Given the description of an element on the screen output the (x, y) to click on. 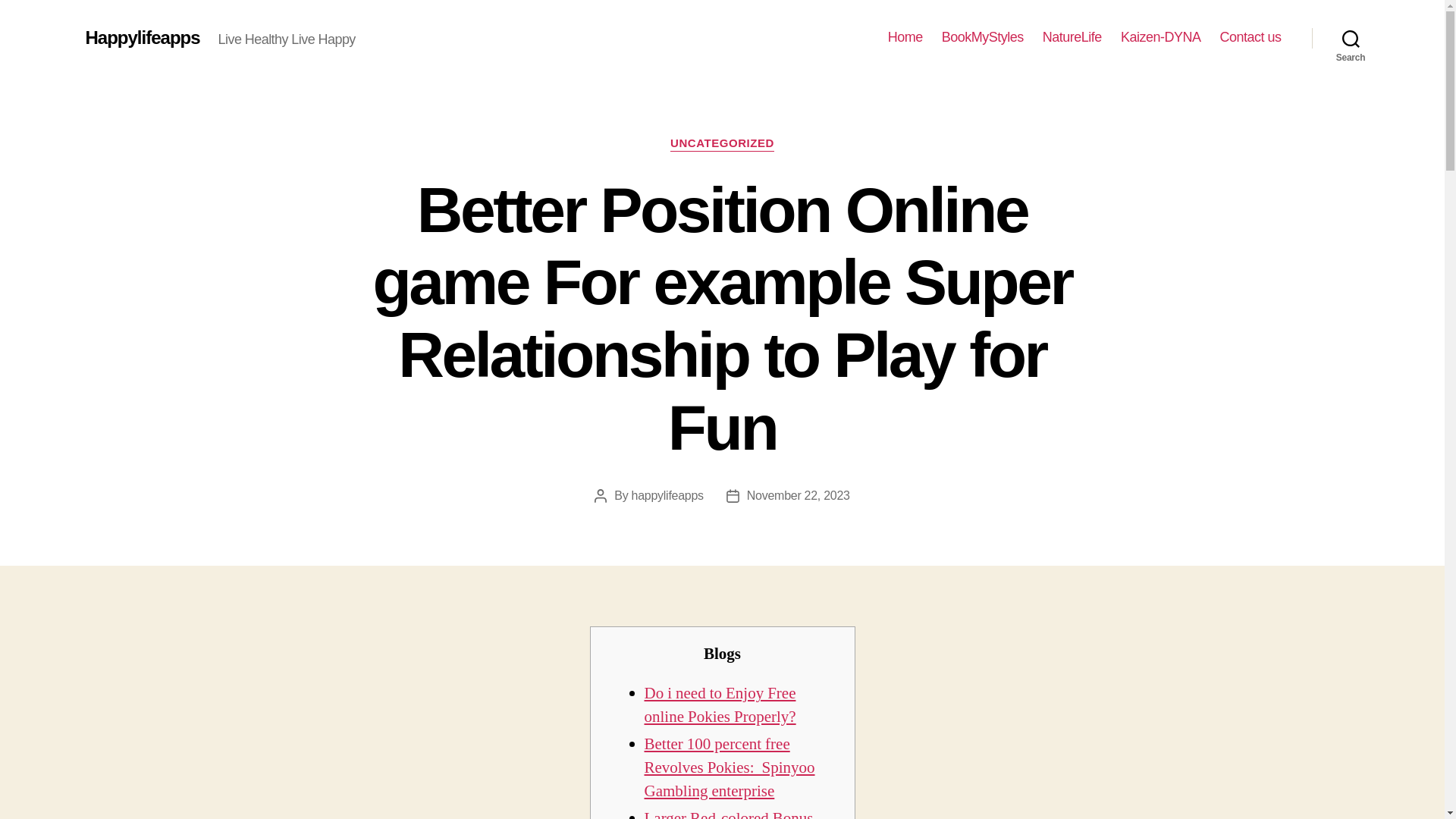
Search (1350, 37)
UNCATEGORIZED (721, 143)
Contact us (1250, 37)
November 22, 2023 (798, 495)
happylifeapps (667, 495)
NatureLife (1072, 37)
Kaizen-DYNA (1161, 37)
Do i need to Enjoy Free online Pokies Properly? (720, 705)
Home (905, 37)
